Given the description of an element on the screen output the (x, y) to click on. 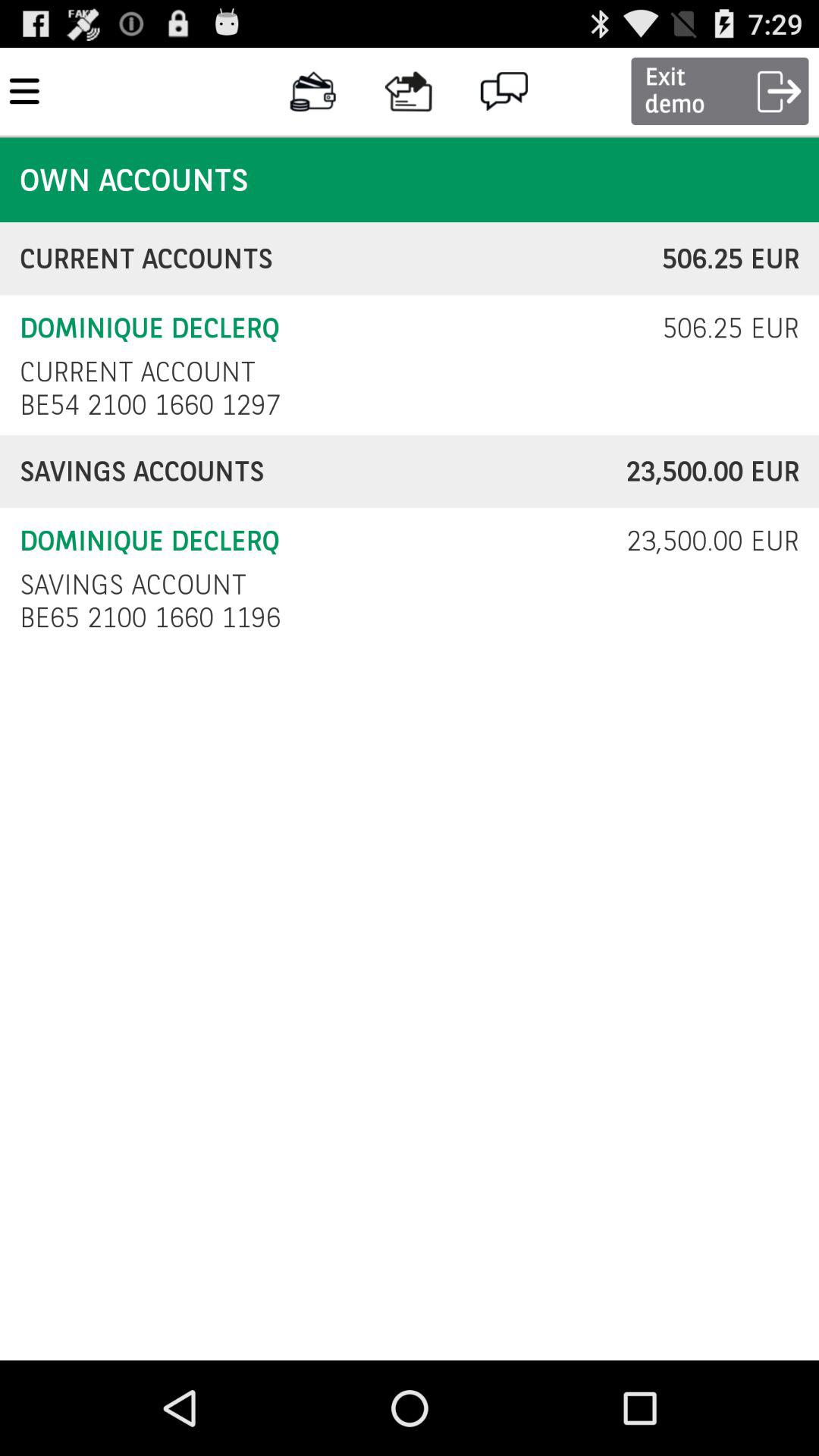
turn on the checkbox to the left of the 506.25 eur (137, 371)
